Given the description of an element on the screen output the (x, y) to click on. 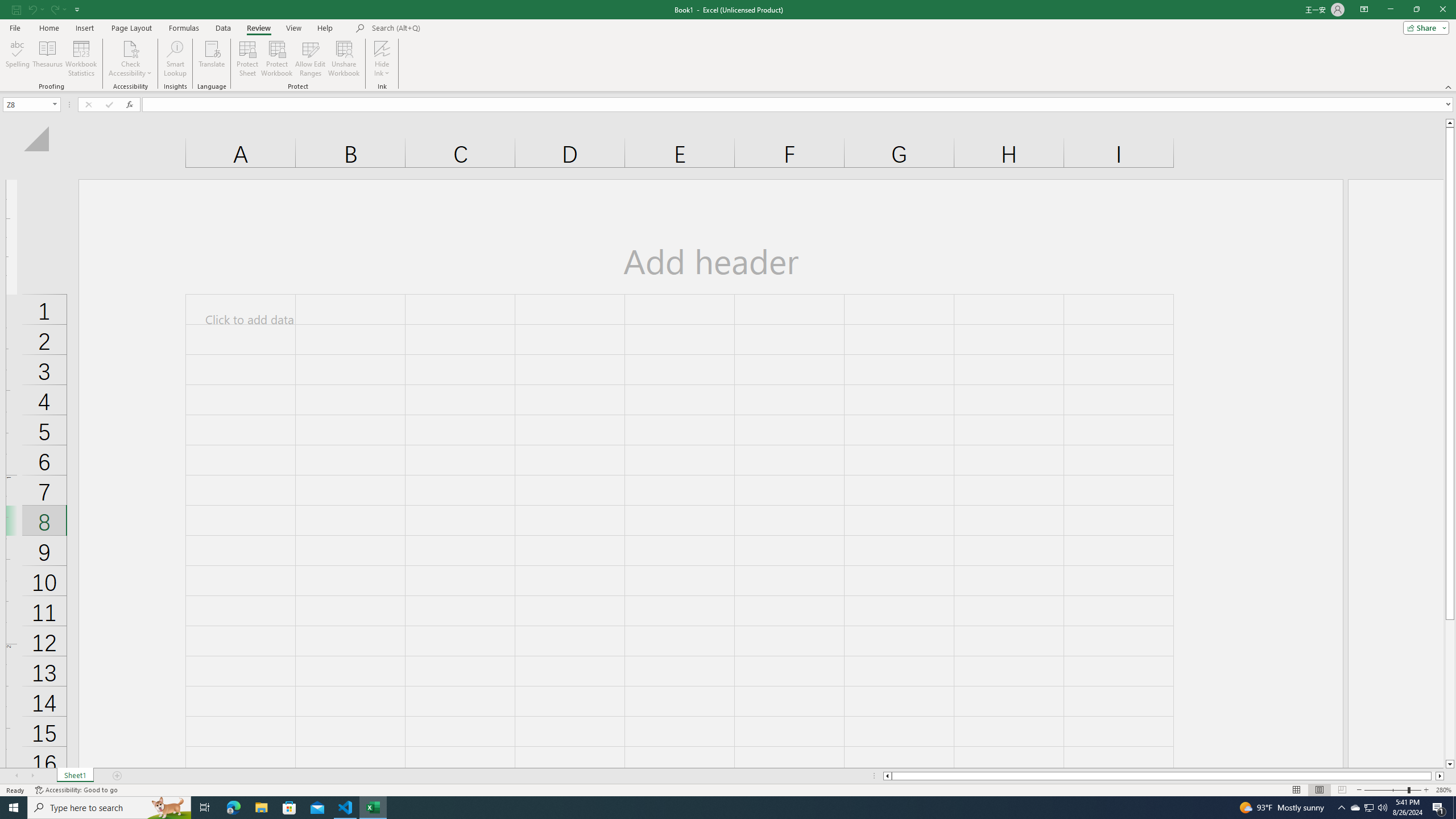
Open (54, 104)
Close (1442, 9)
Hide Ink (381, 48)
Zoom (1392, 790)
Line down (1449, 764)
Allow Edit Ranges (310, 58)
Class: MsoCommandBar (728, 45)
Class: NetUIScrollBar (1163, 775)
Restore Down (1416, 9)
Protect Sheet... (247, 58)
File Tab (15, 27)
Protect Workbook... (277, 58)
Scroll Right (32, 775)
Insert (83, 28)
